Given the description of an element on the screen output the (x, y) to click on. 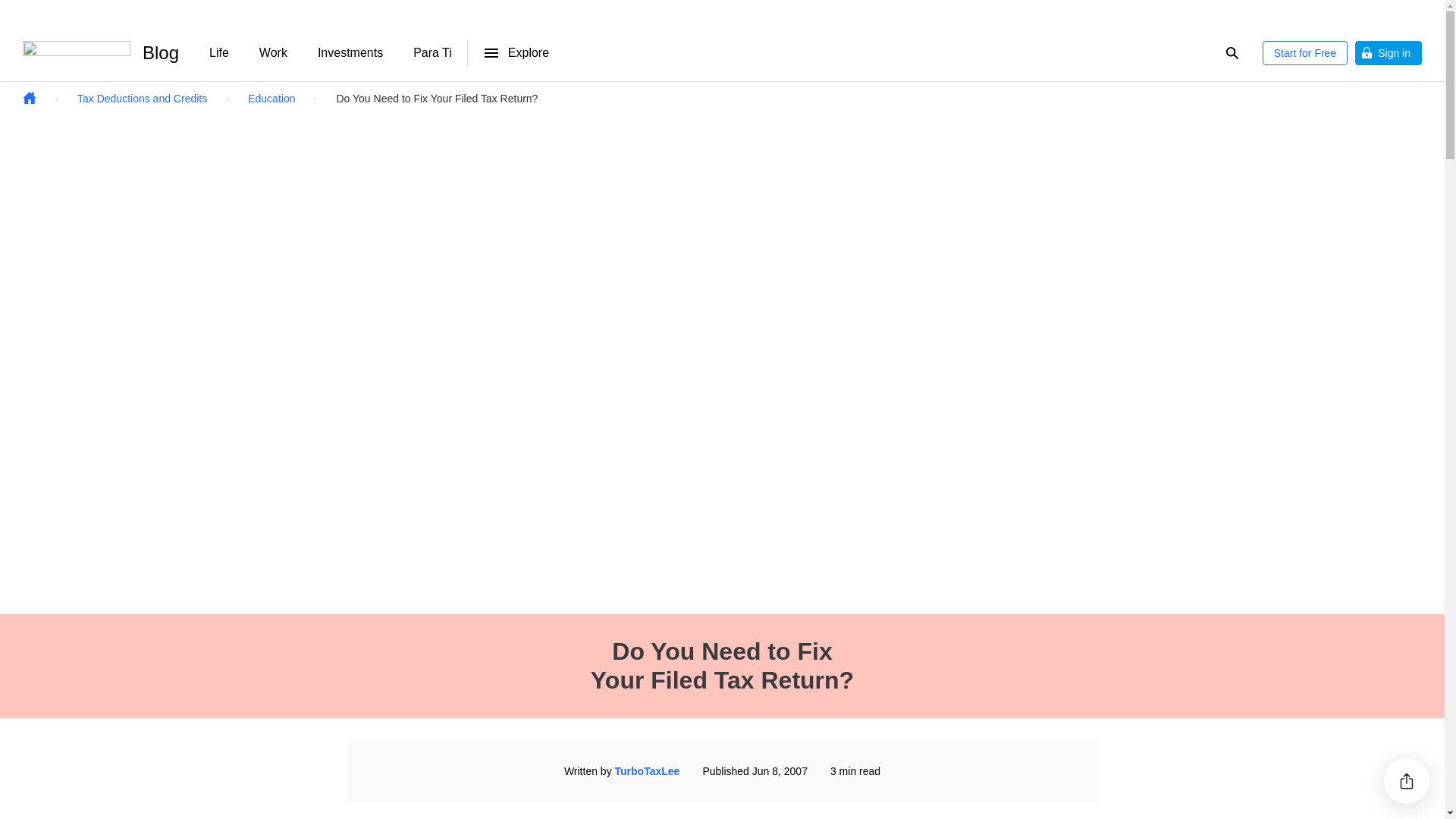
Explore (515, 52)
Investments (349, 52)
Blog (160, 52)
Work (273, 52)
Para Ti (432, 52)
